Given the description of an element on the screen output the (x, y) to click on. 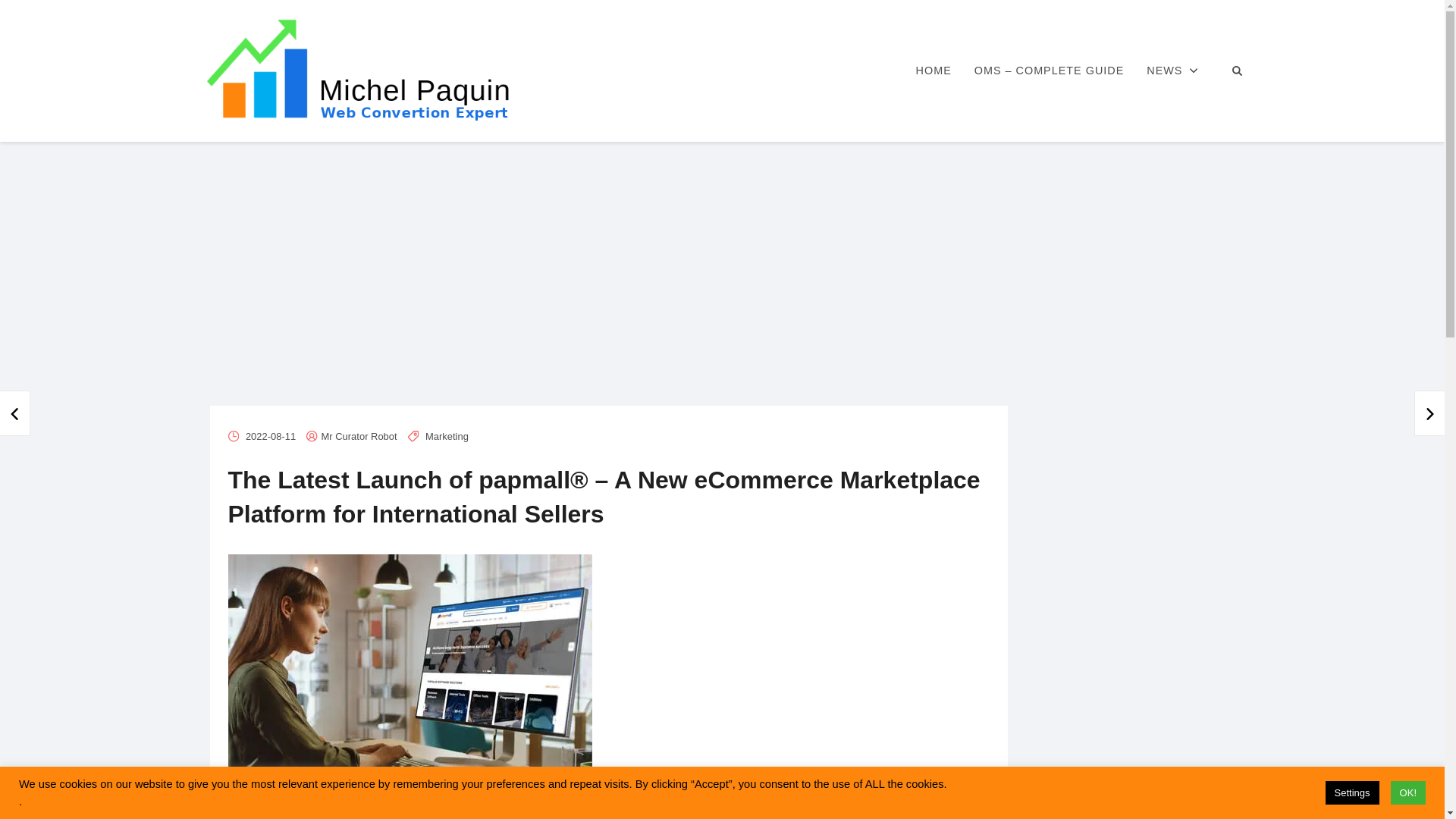
Settings (1351, 792)
2022-08-11 (270, 436)
Marketing (446, 436)
Mr Curator Robot (359, 436)
NEWS (1171, 70)
HOME (933, 70)
OK! (1407, 792)
